Given the description of an element on the screen output the (x, y) to click on. 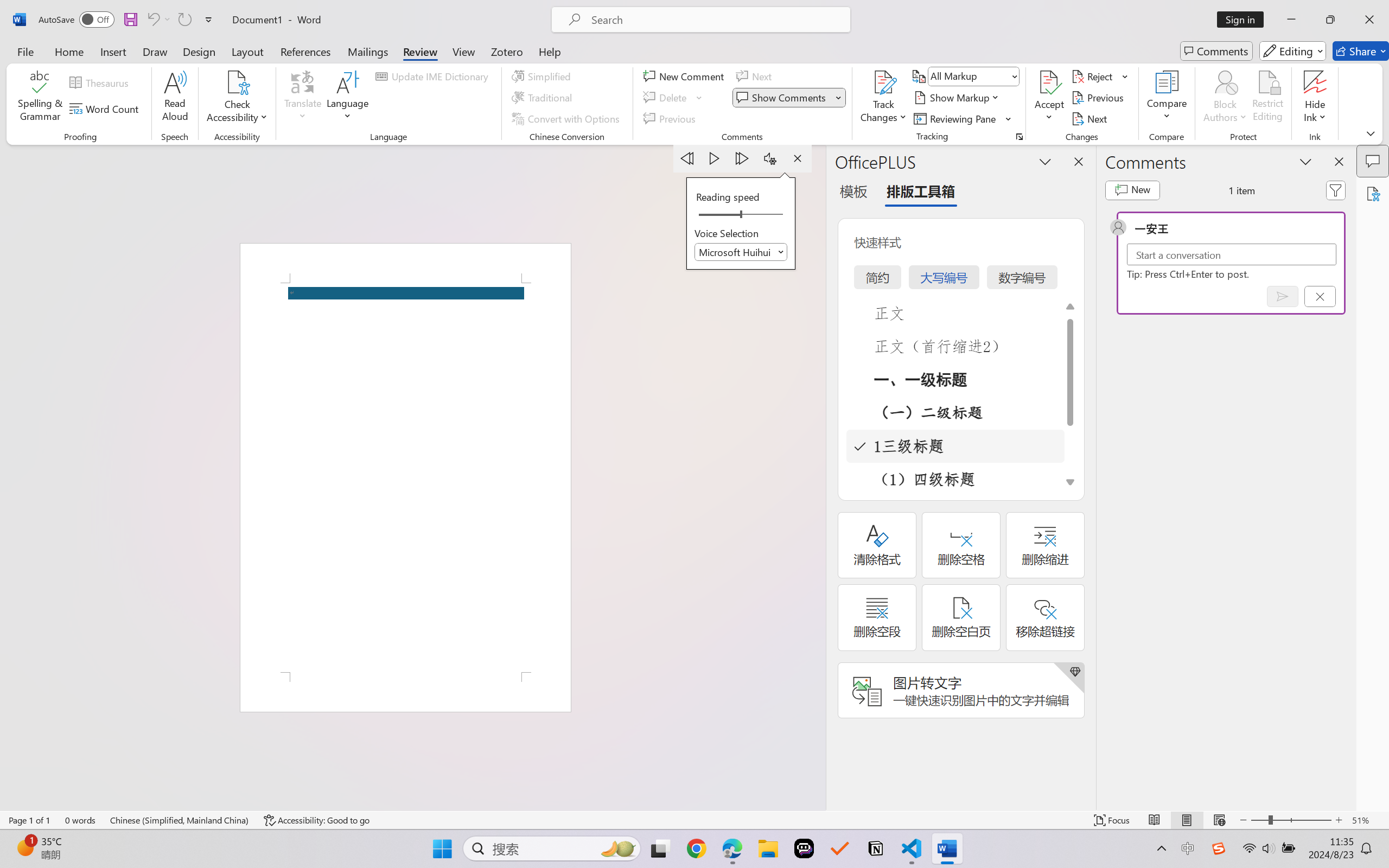
Read Aloud (174, 97)
Reading speed (740, 214)
Track Changes (883, 81)
Previous (1099, 97)
Reject and Move to Next (1093, 75)
Next Paragraph (743, 158)
Language (347, 97)
